Given the description of an element on the screen output the (x, y) to click on. 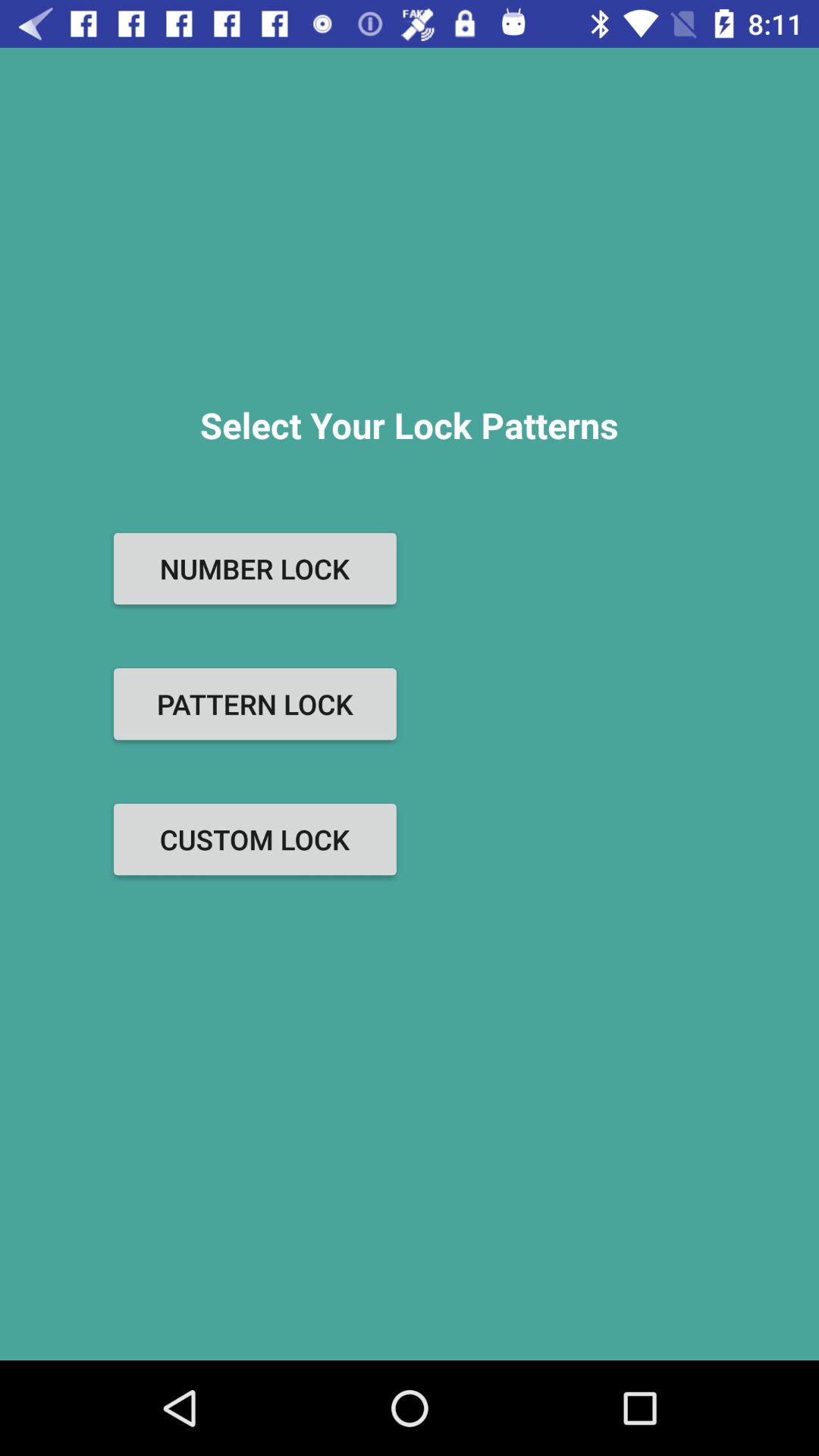
press item below select your lock (254, 568)
